Given the description of an element on the screen output the (x, y) to click on. 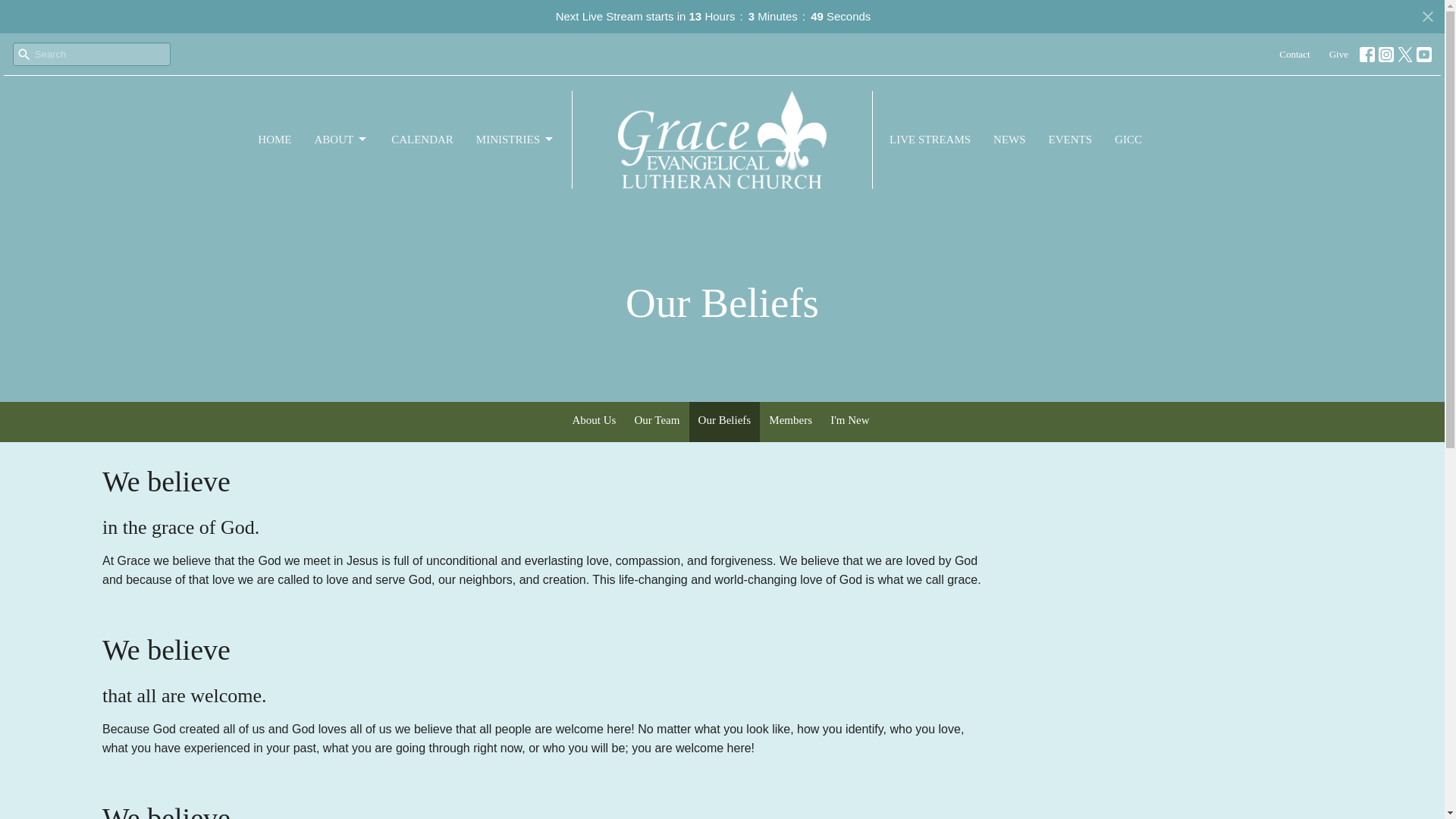
LIVE STREAMS (930, 139)
Our Team (656, 422)
Give (1338, 54)
About Us (593, 422)
HOME (274, 139)
I'm New (849, 422)
Members (790, 422)
Our Beliefs (724, 422)
NEWS (1009, 139)
MINISTRIES (515, 139)
